Given the description of an element on the screen output the (x, y) to click on. 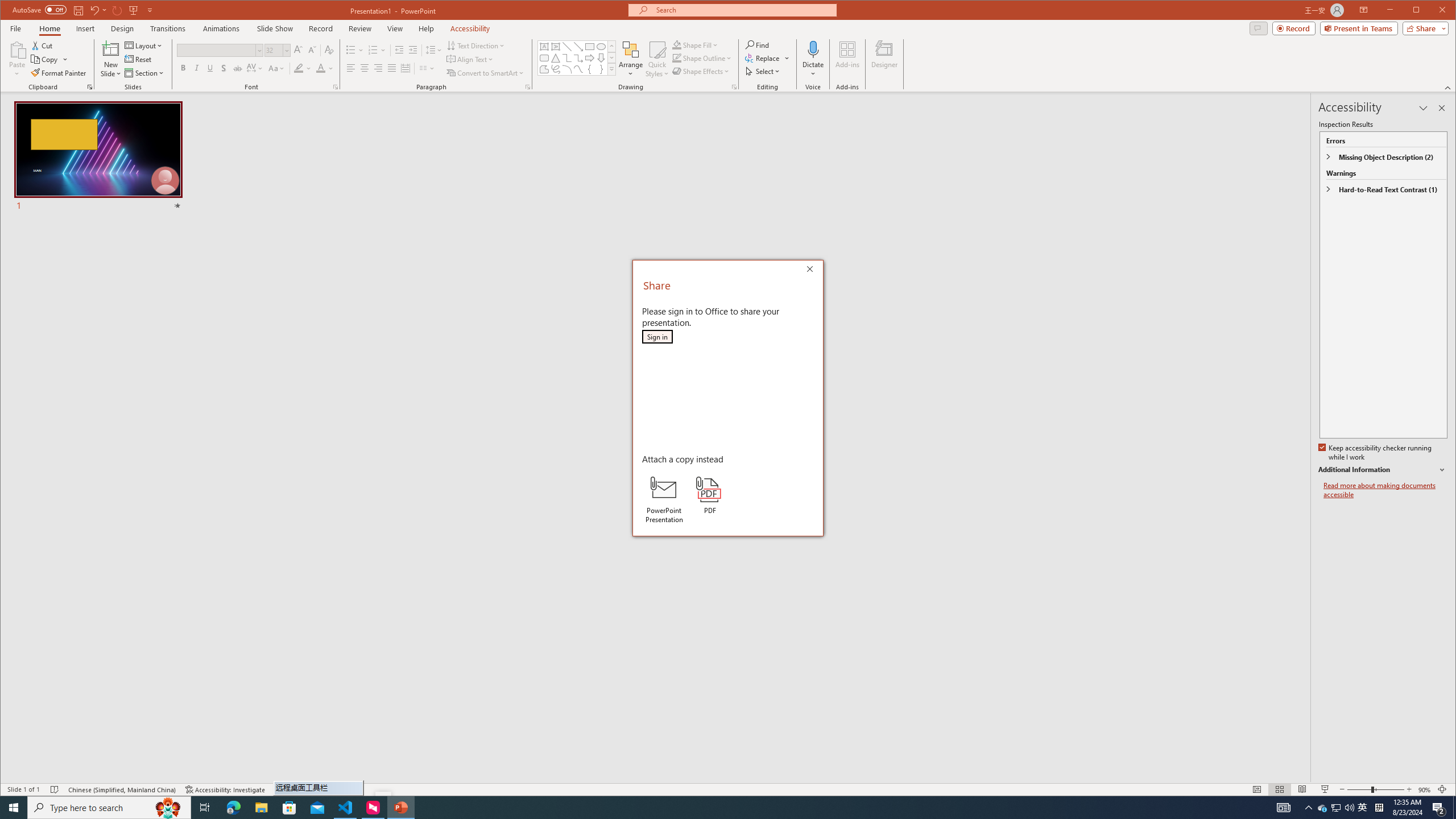
Office Clipboard... (89, 86)
Line Arrow (577, 46)
Connector: Elbow Arrow (577, 57)
Keep accessibility checker running while I work (1375, 452)
Type here to search (108, 807)
